Given the description of an element on the screen output the (x, y) to click on. 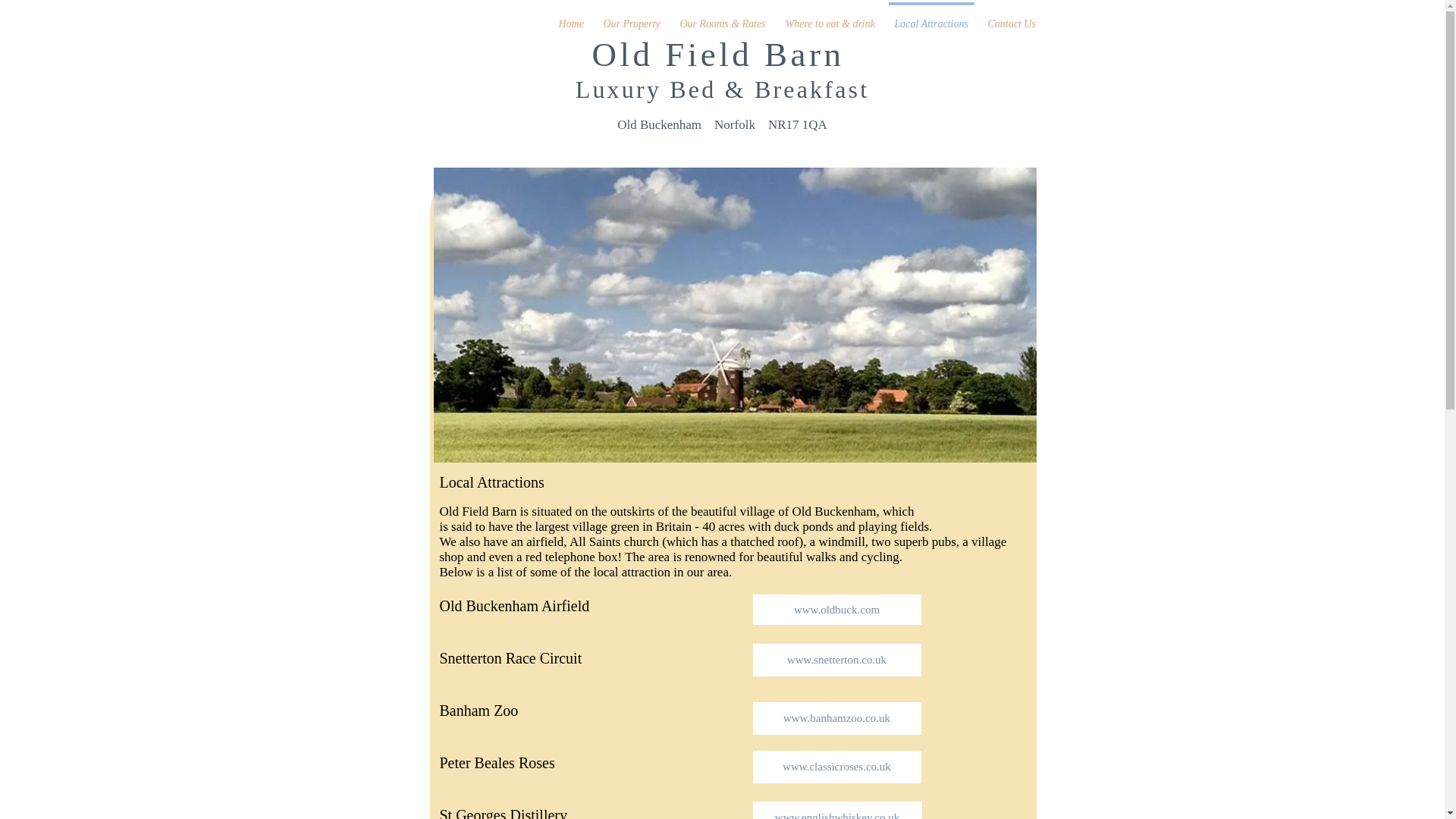
www.oldbuck.com (836, 609)
Contact Us (1011, 17)
Local Attractions (929, 17)
Our Property (630, 17)
www.snetterton.co.uk (836, 659)
www.banhamzoo.co.uk (836, 717)
Home (571, 17)
www.classicroses.co.uk (836, 766)
www.englishwhiskey.co.uk (836, 810)
